Given the description of an element on the screen output the (x, y) to click on. 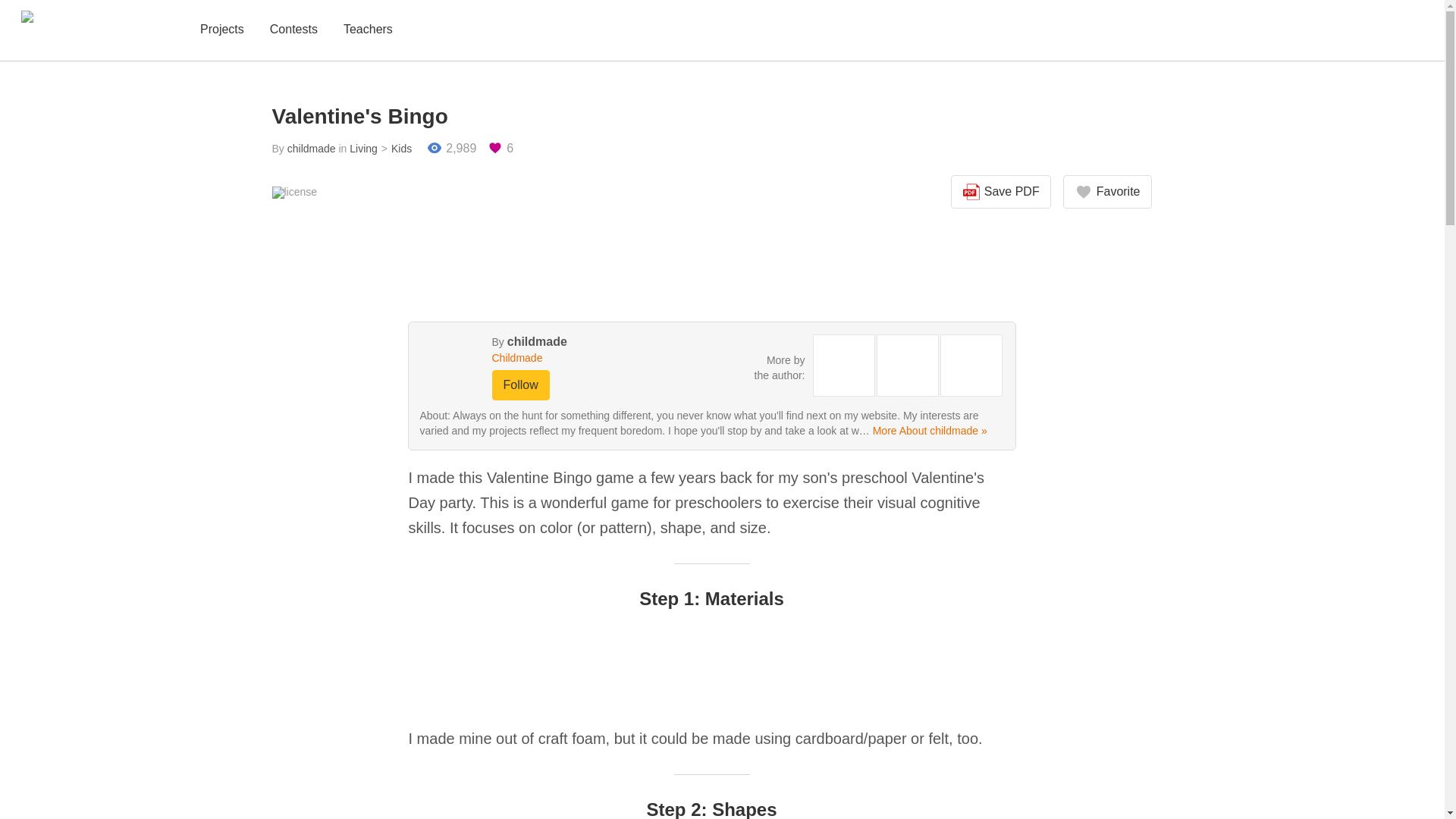
Projects (221, 30)
Contests (293, 30)
Teachers (368, 30)
Favorite (1106, 191)
Living (363, 148)
childmade (536, 341)
Save PDF (1000, 191)
Childmade (570, 358)
Follow (520, 385)
Kids (394, 148)
